Given the description of an element on the screen output the (x, y) to click on. 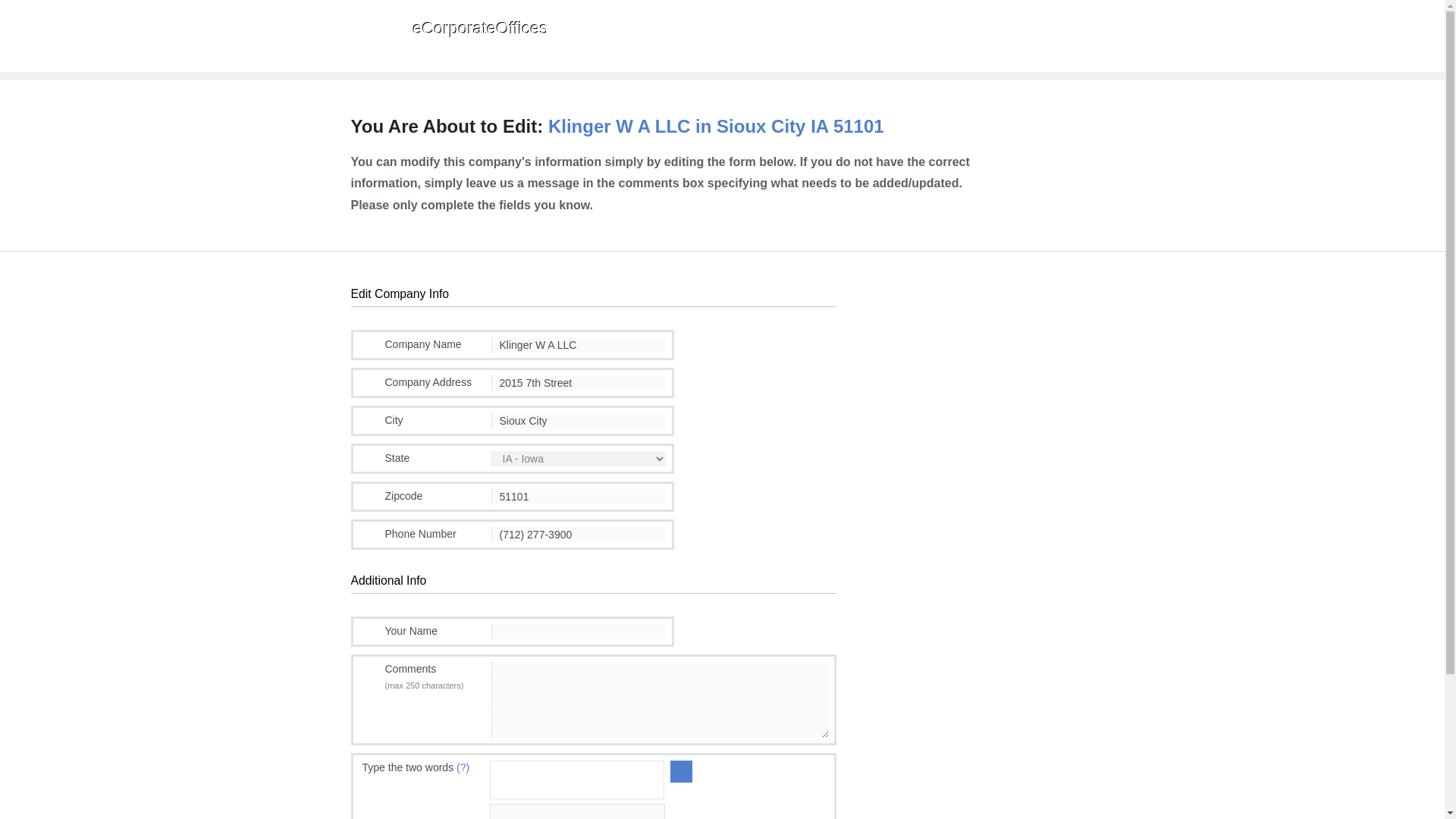
Sioux City (578, 420)
51101 (578, 496)
Klinger W A LLC (578, 344)
eCorporateOffices - Browse All Corporate Offices (448, 33)
2015 7th Street (578, 382)
eCorporateOffices (448, 33)
